Given the description of an element on the screen output the (x, y) to click on. 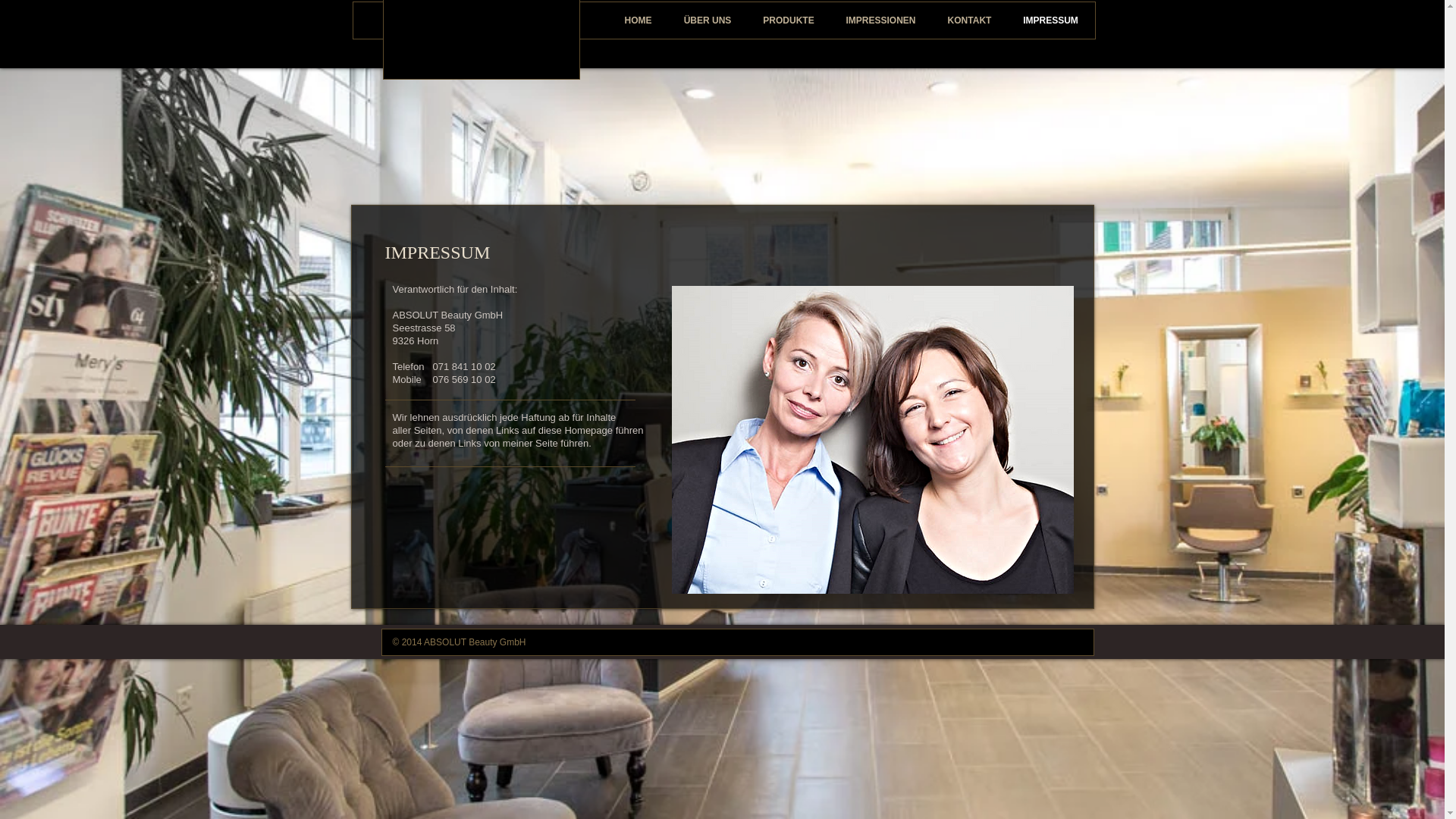
KONTAKT Element type: text (969, 20)
HOME Element type: text (637, 20)
IMPRESSUM Element type: text (1050, 20)
IMPRESSIONEN Element type: text (880, 20)
PRODUKTE Element type: text (788, 20)
Beauty-167_edited.jpg Element type: hover (872, 439)
